Given the description of an element on the screen output the (x, y) to click on. 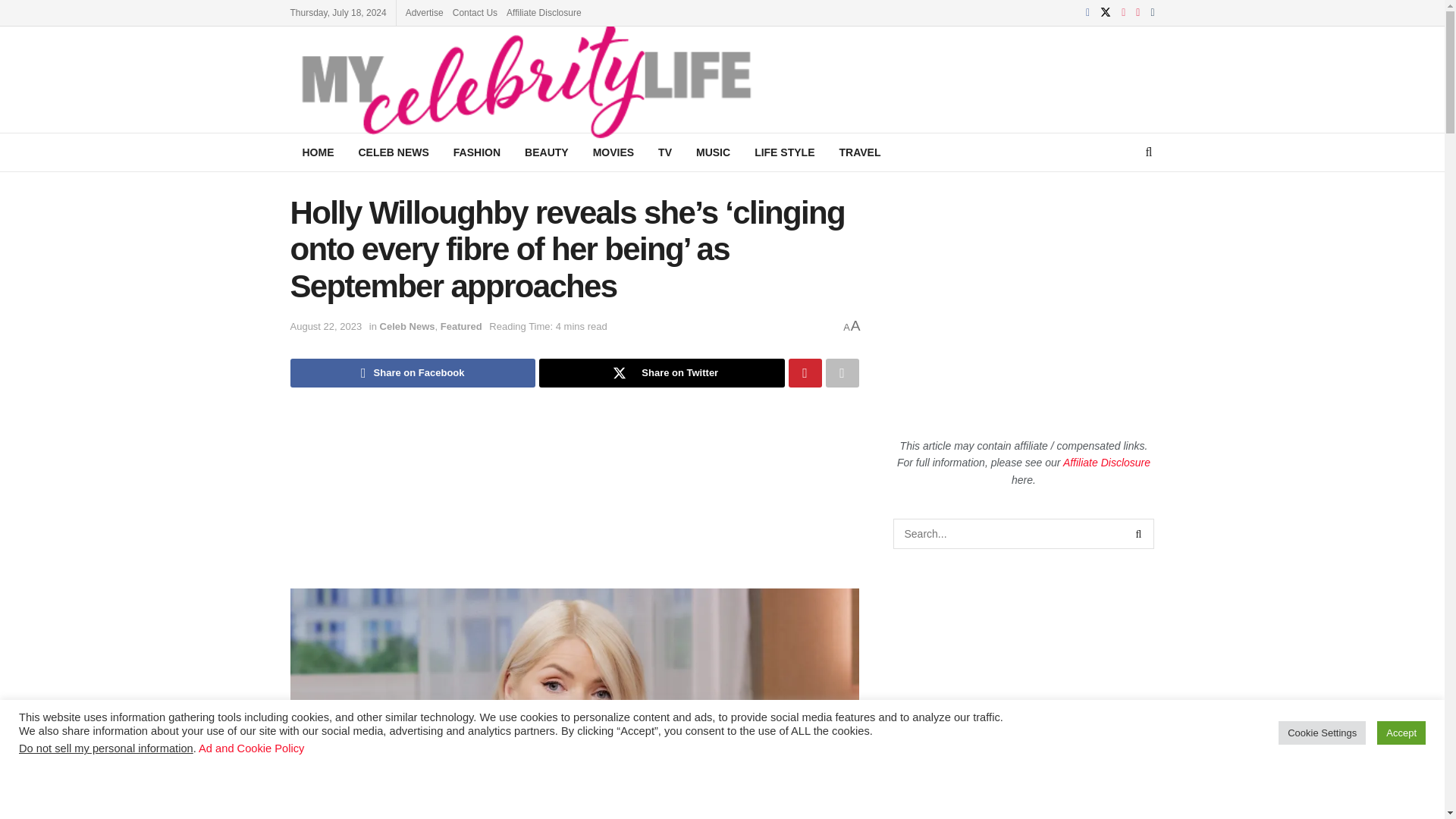
Celeb News (407, 326)
Advertise (425, 12)
MOVIES (613, 152)
FASHION (476, 152)
BEAUTY (546, 152)
MUSIC (713, 152)
LIFE STYLE (784, 152)
CELEB NEWS (393, 152)
Advertisement (1023, 685)
TRAVEL (859, 152)
Contact Us (474, 12)
Advertisement (1056, 77)
Featured (461, 326)
August 22, 2023 (325, 326)
TV (665, 152)
